Given the description of an element on the screen output the (x, y) to click on. 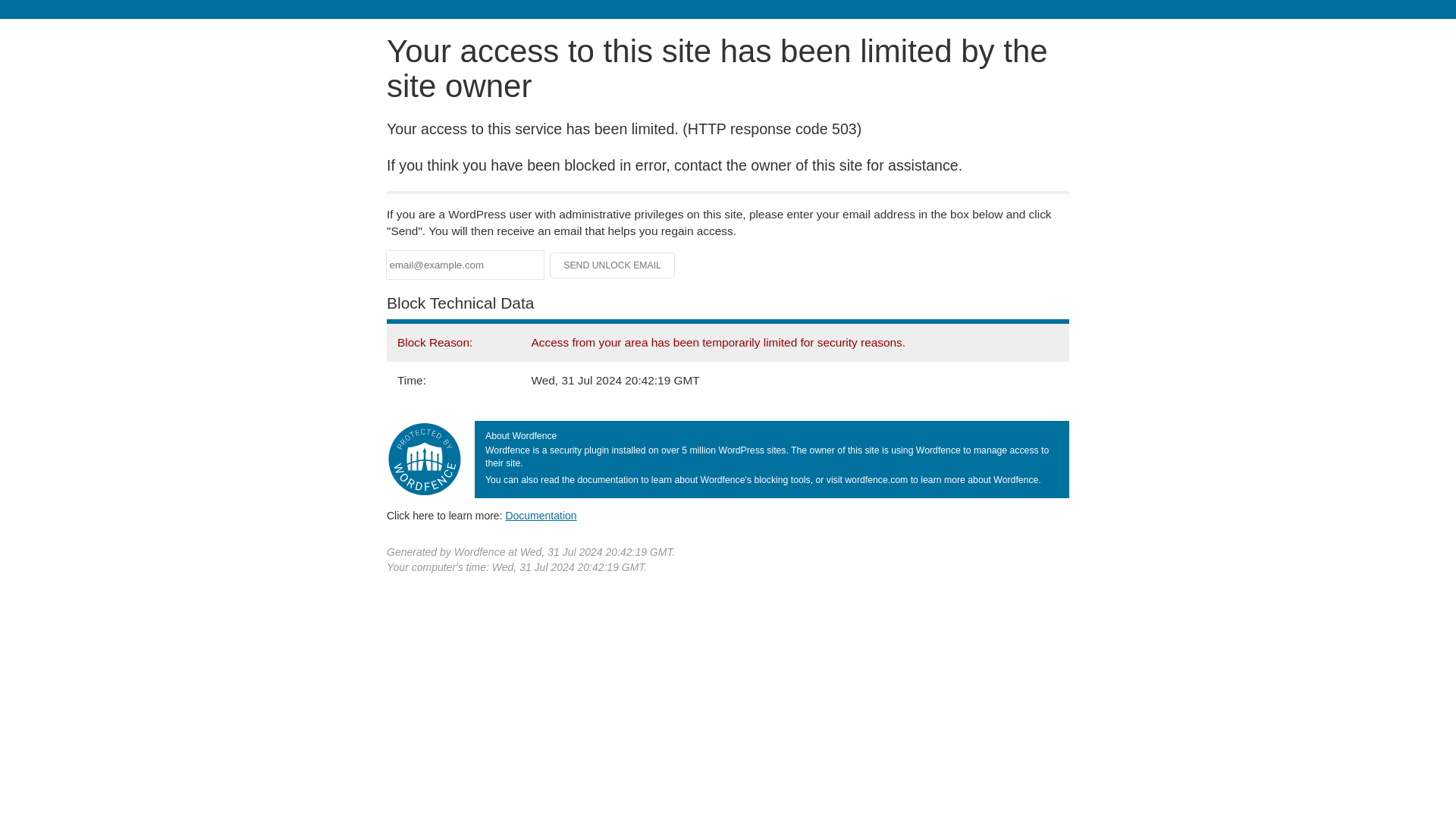
Documentation (540, 515)
Send Unlock Email (612, 265)
Send Unlock Email (612, 265)
